Given the description of an element on the screen output the (x, y) to click on. 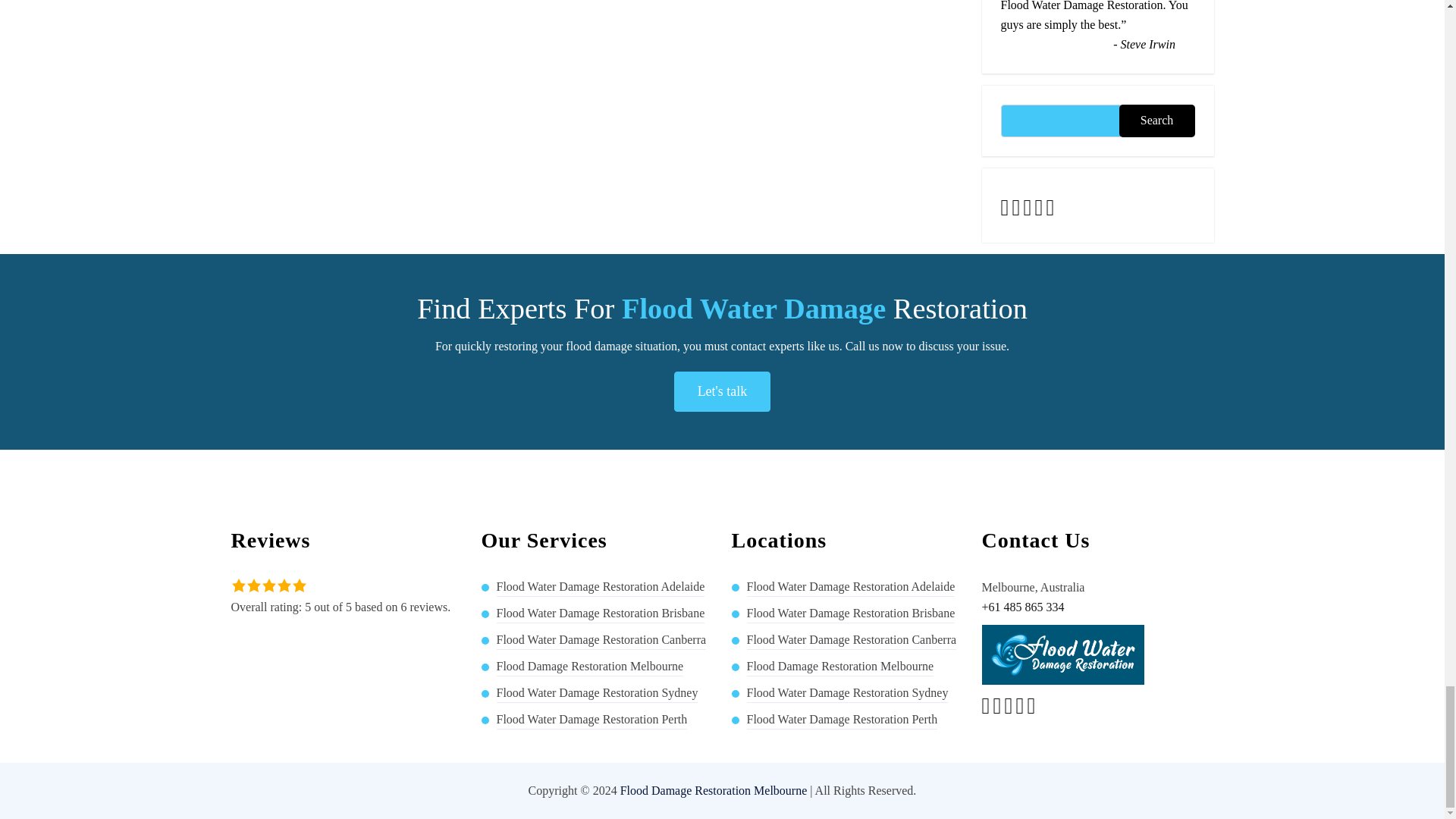
Search (1157, 120)
Let's Talk (722, 391)
